Given the description of an element on the screen output the (x, y) to click on. 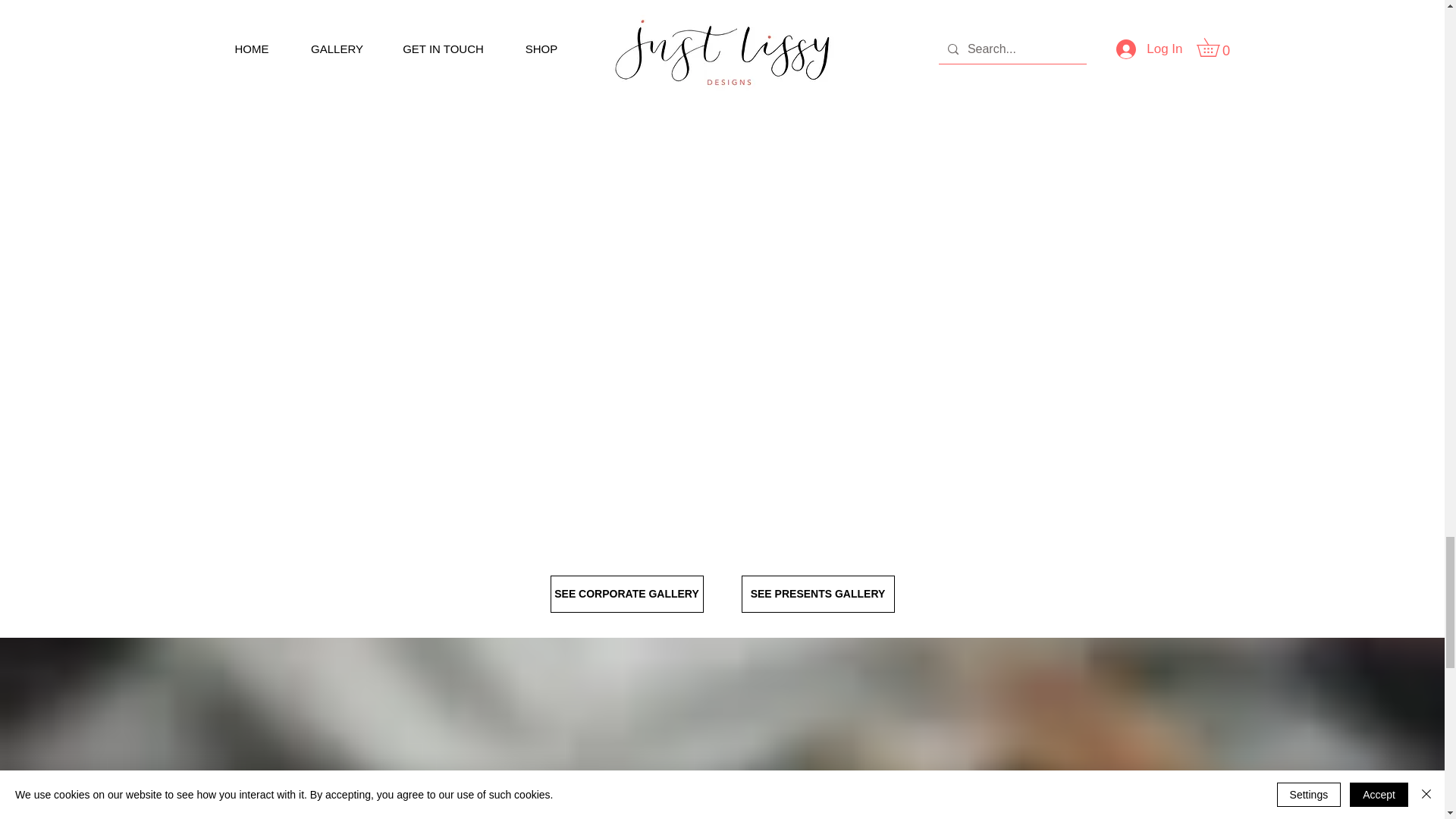
LET'S TALK WEDDINGS (733, 798)
SEE PRESENTS GALLERY (818, 593)
SEE CORPORATE GALLERY (626, 593)
